Given the description of an element on the screen output the (x, y) to click on. 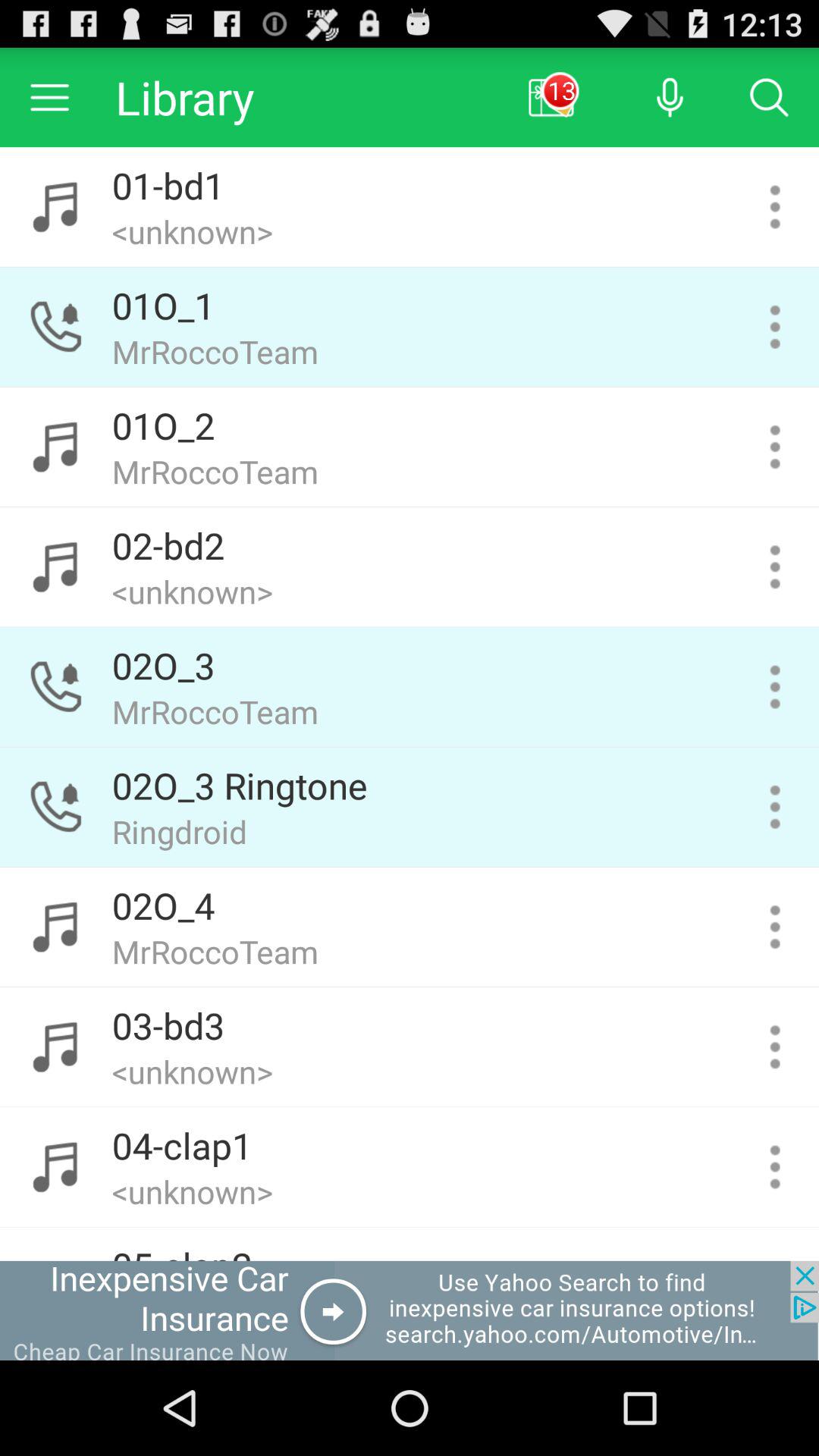
more information (775, 686)
